Given the description of an element on the screen output the (x, y) to click on. 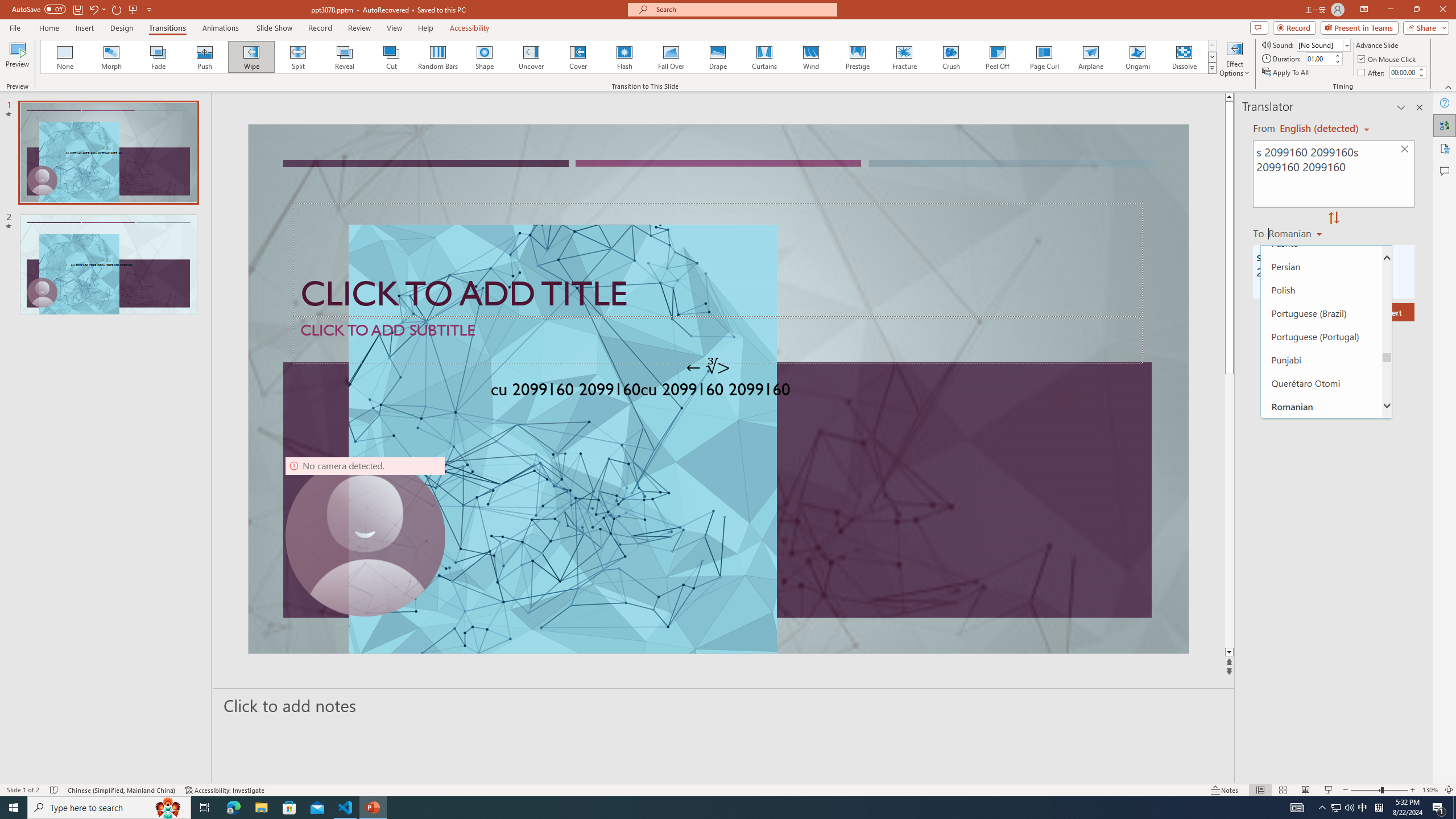
Wang Yian (958, 382)
Notebook (616, 114)
Terminal actions (1050, 533)
Microsoft security help and learning (23, 348)
WebIDE (732, 114)
sample_500k.py (352, 183)
Outline Section (188, 615)
Views and More Actions... (251, 182)
